Given the description of an element on the screen output the (x, y) to click on. 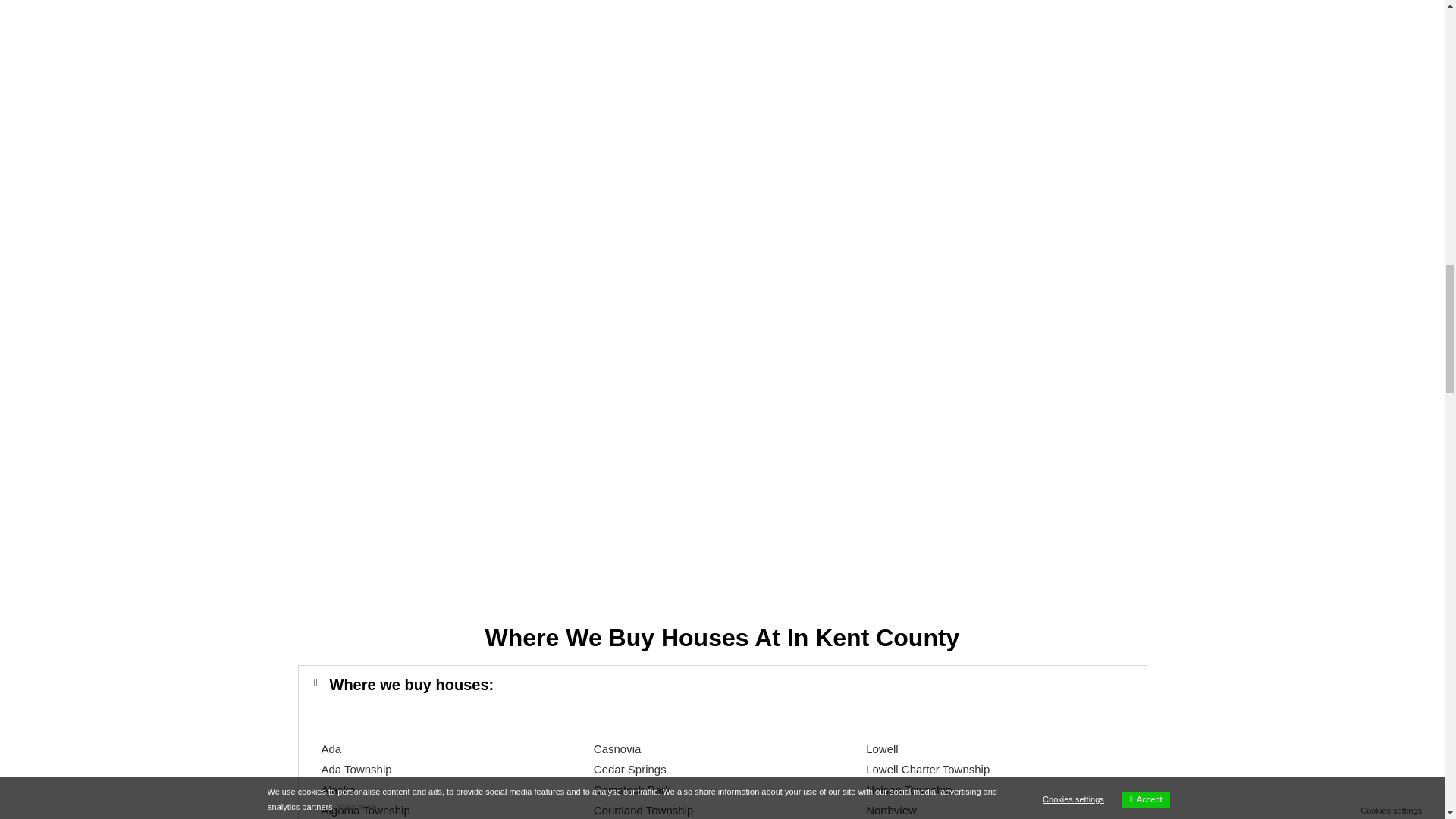
Ada (331, 748)
Ada Township (356, 768)
Alaska (338, 789)
Where we buy houses: (411, 684)
Comstock Park (632, 789)
Algoma Township (365, 809)
Casnovia (618, 748)
Cedar Springs (630, 768)
